Given the description of an element on the screen output the (x, y) to click on. 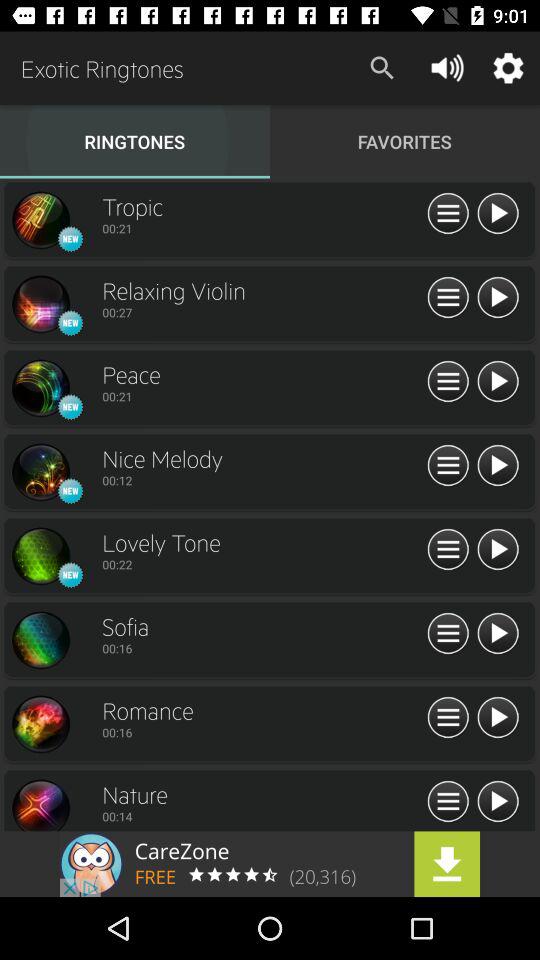
go to peace (40, 388)
